Given the description of an element on the screen output the (x, y) to click on. 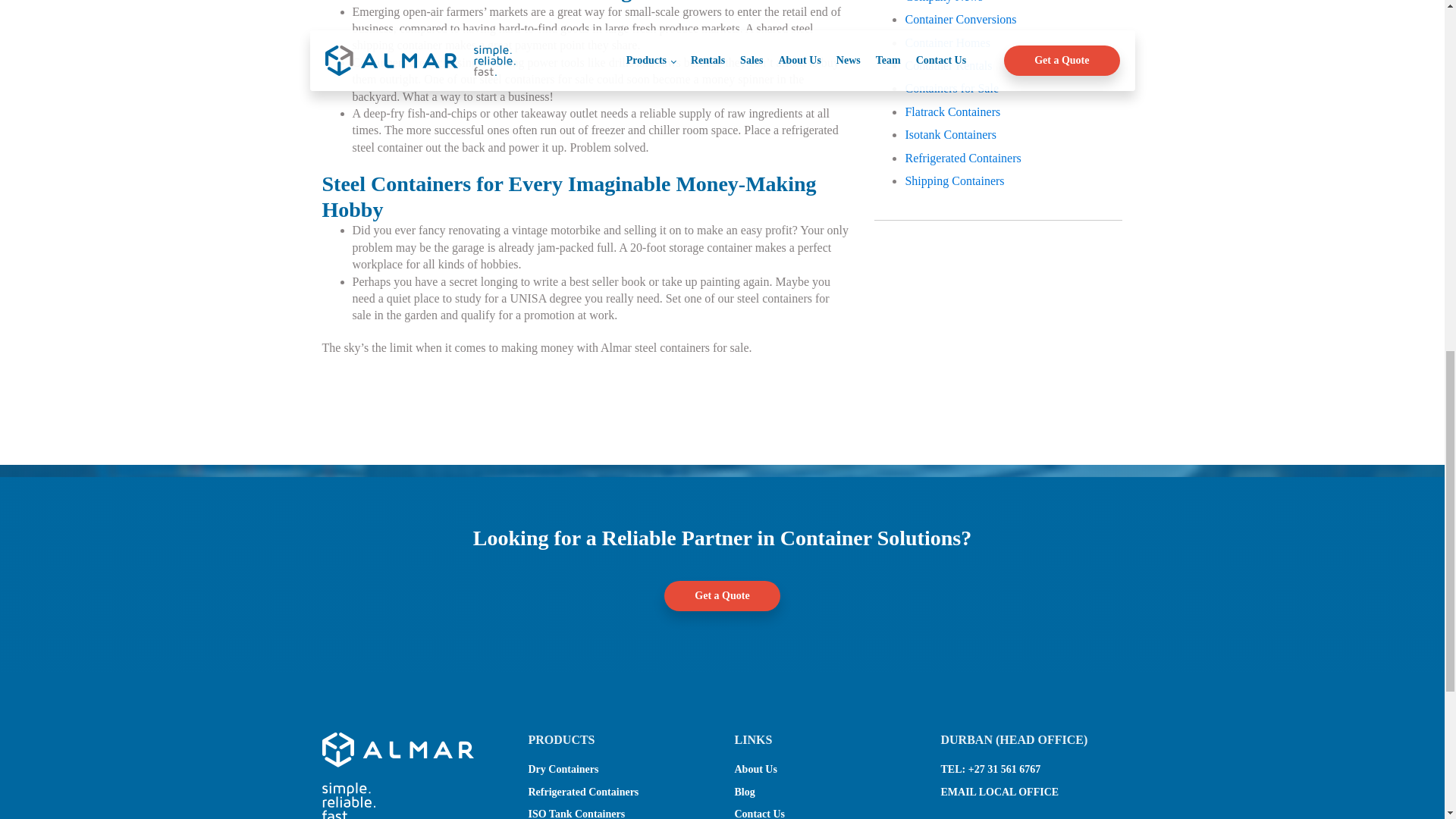
Contact Us (758, 812)
Container Conversions (960, 19)
Refrigerated Containers (962, 157)
ISO Tank Containers (575, 812)
Shipping Containers (954, 180)
Refrigerated Containers (583, 792)
About Us (754, 769)
Blog (743, 792)
Isotank Containers (949, 133)
Flatrack Containers (952, 111)
